Given the description of an element on the screen output the (x, y) to click on. 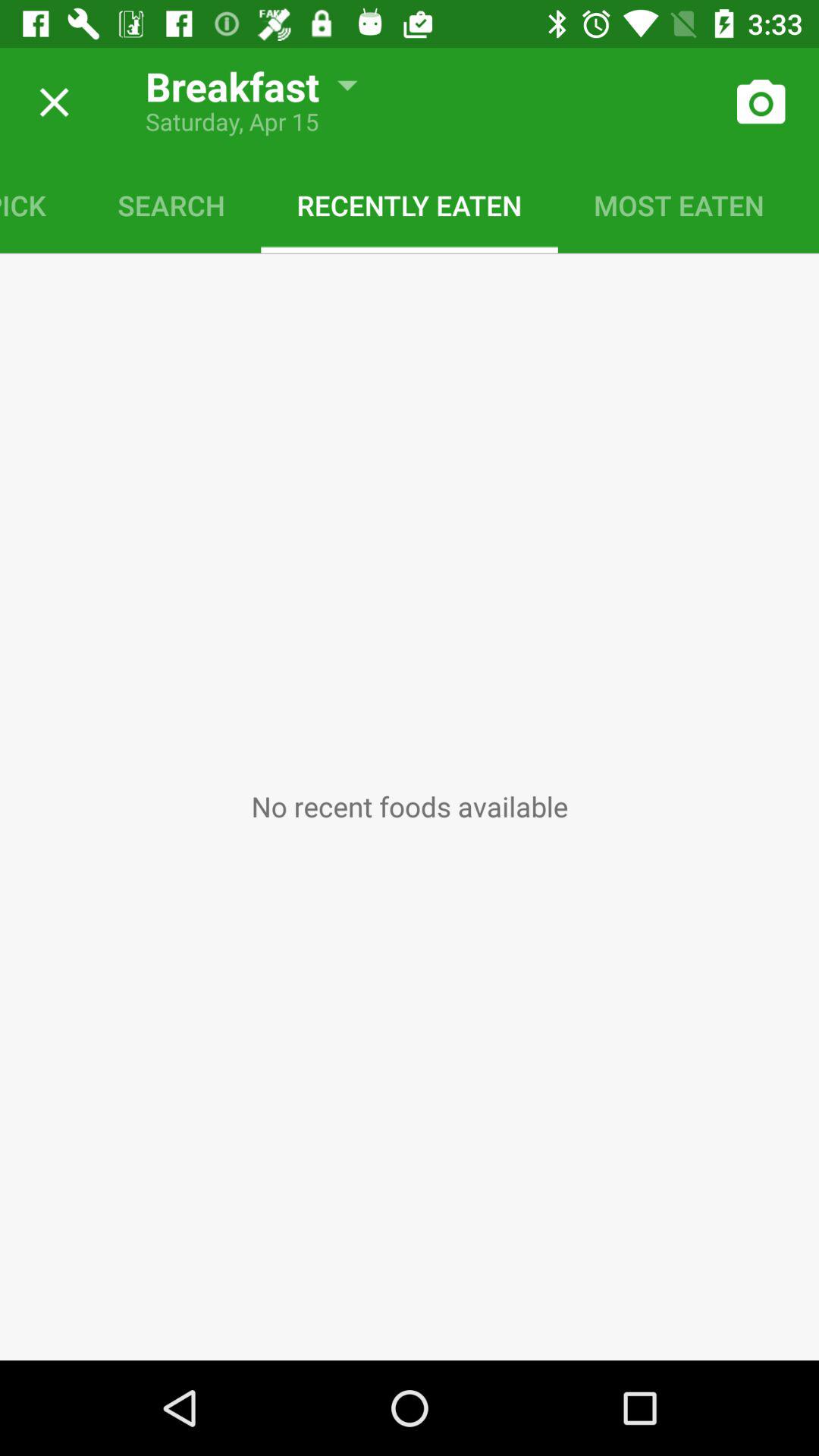
take photo (760, 102)
